Given the description of an element on the screen output the (x, y) to click on. 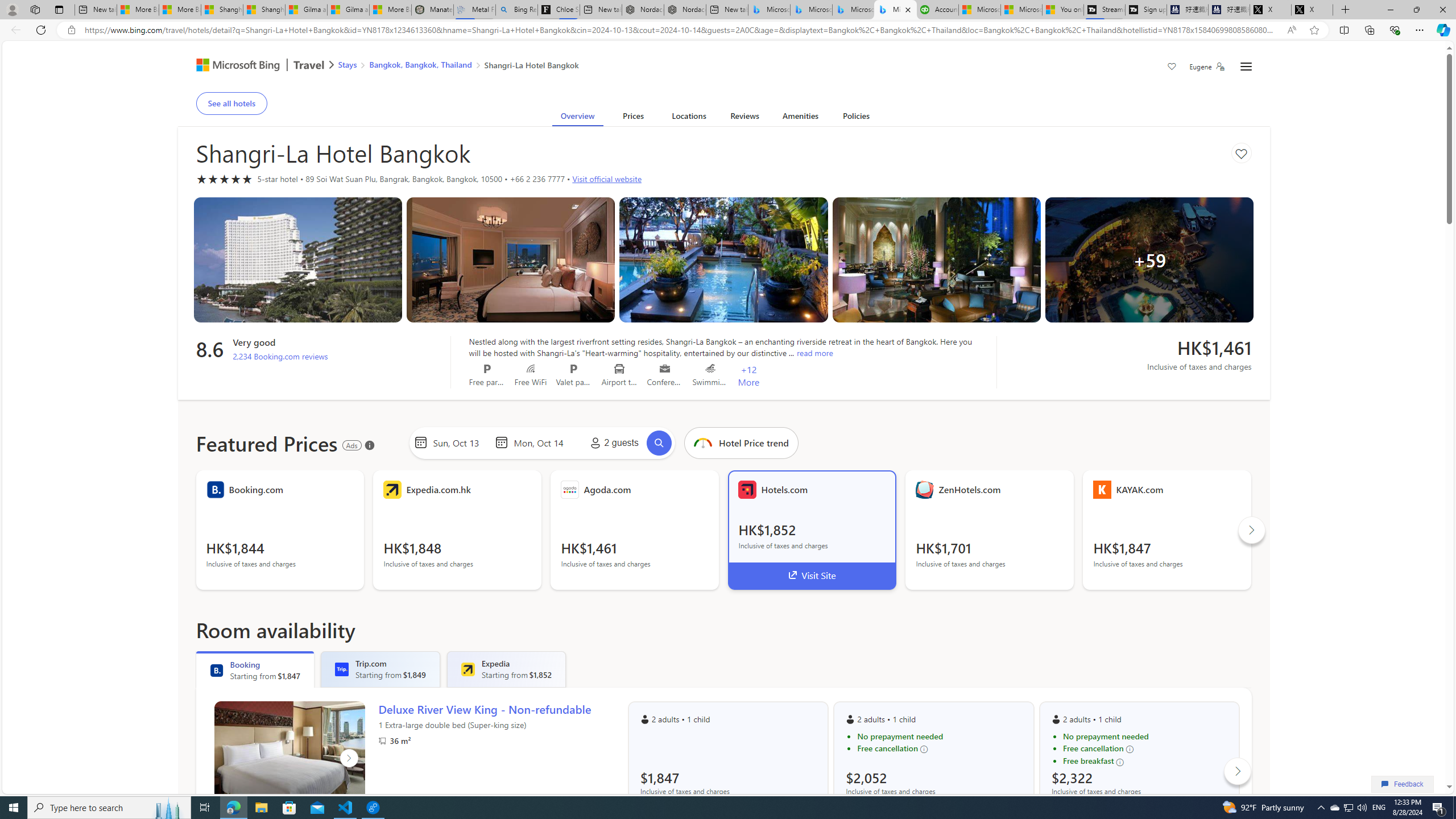
Hotel Price trend (702, 442)
No prepayment needed (1144, 736)
read more (814, 352)
Click to scroll right (1238, 770)
Booking (216, 670)
Bing Real Estate - Home sales and rental listings (516, 9)
Visit official website (607, 178)
See all hotels (231, 102)
